Given the description of an element on the screen output the (x, y) to click on. 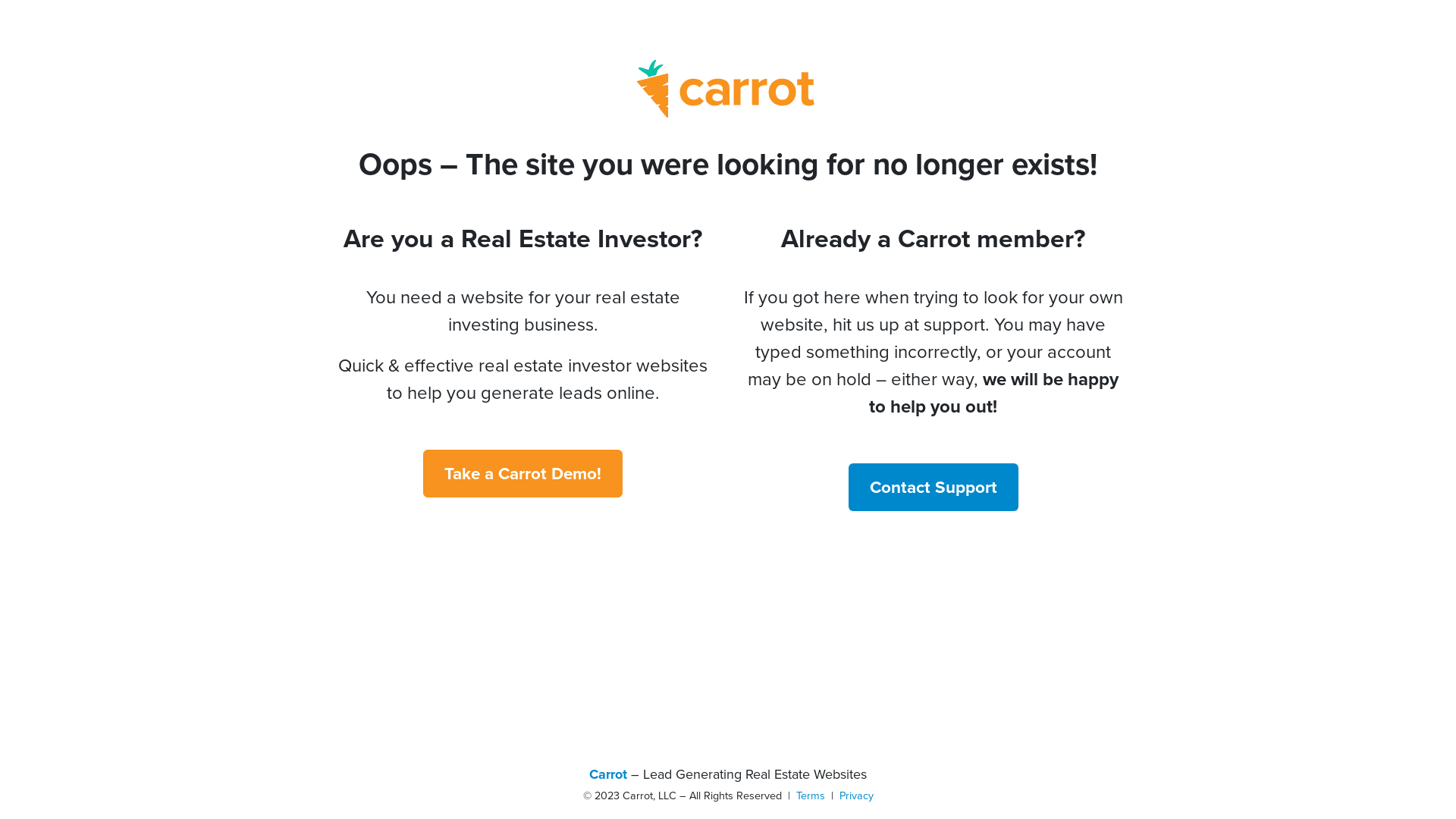
Carrot Element type: text (608, 774)
Contact Support Element type: text (932, 487)
Take a Carrot Demo! Element type: text (522, 473)
Privacy Element type: text (855, 795)
Terms Element type: text (810, 795)
